Given the description of an element on the screen output the (x, y) to click on. 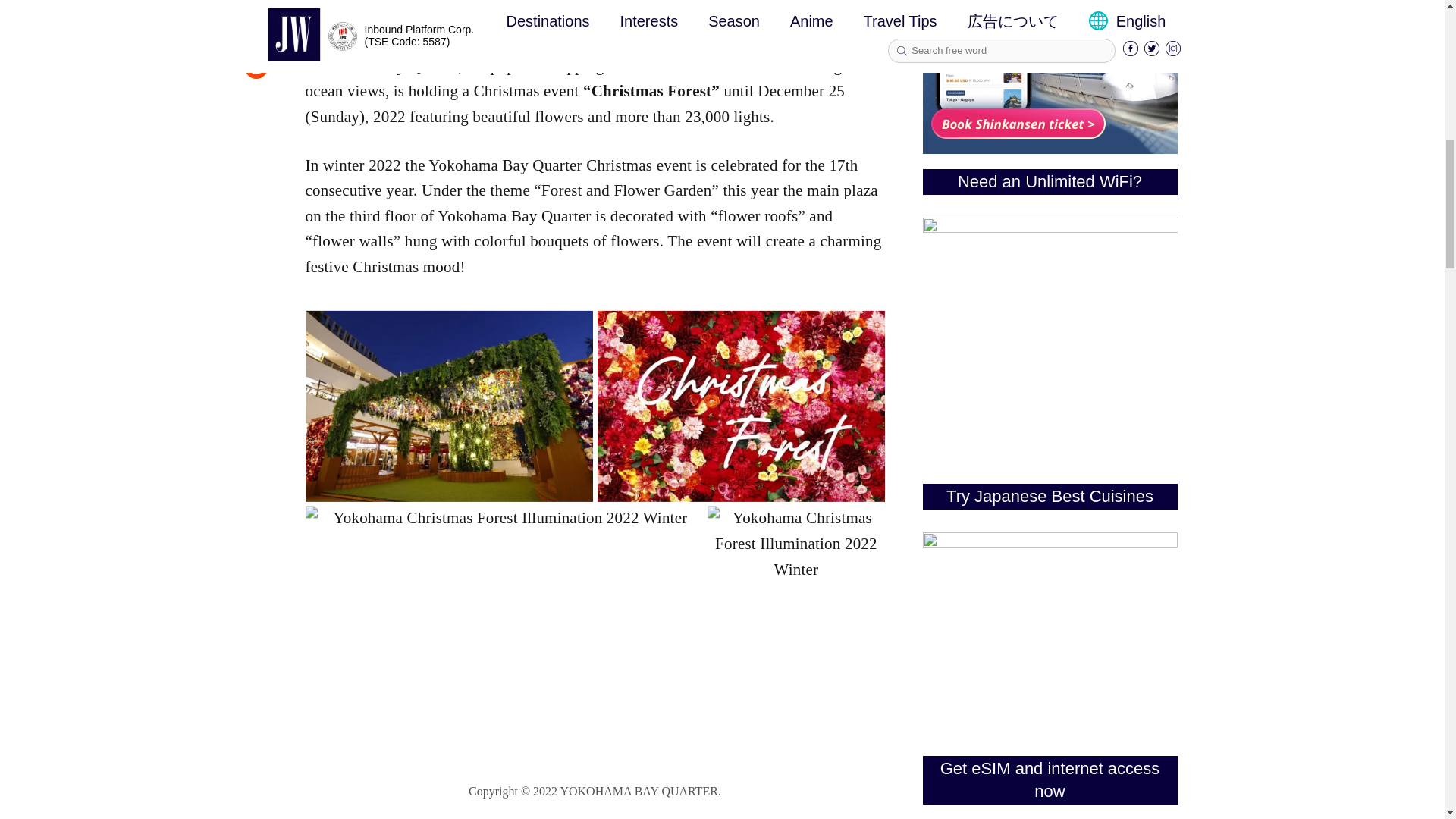
Share to Pinterest (255, 42)
Share to Reddit (255, 73)
Share to Twitter (255, 11)
